Given the description of an element on the screen output the (x, y) to click on. 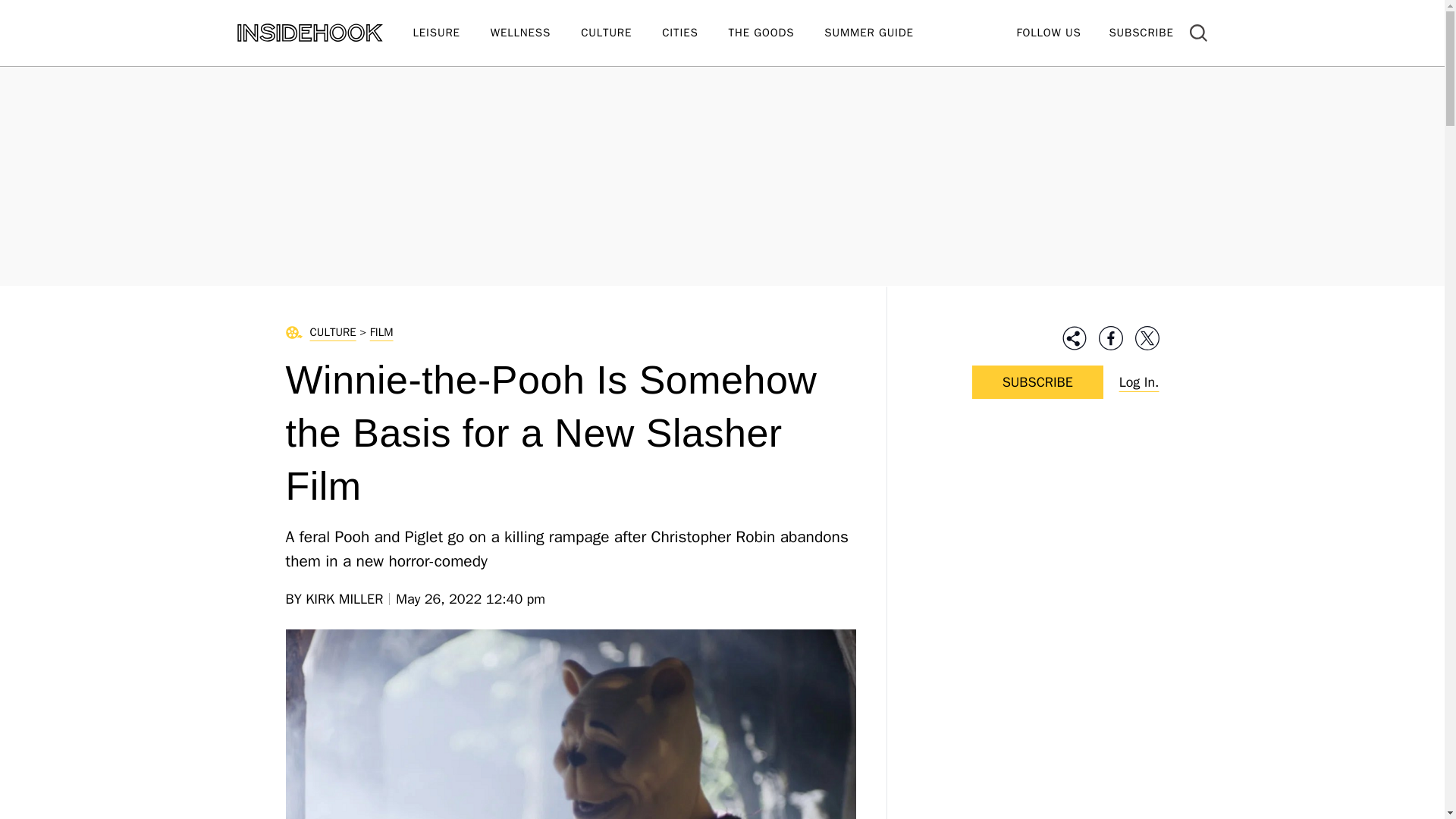
LEISURE (450, 32)
WELLNESS (535, 32)
FOLLOW US (1048, 32)
CITIES (695, 32)
CULTURE (621, 32)
SUMMER GUIDE (883, 32)
THE GOODS (777, 32)
SUBSCRIBE (1140, 32)
